Given the description of an element on the screen output the (x, y) to click on. 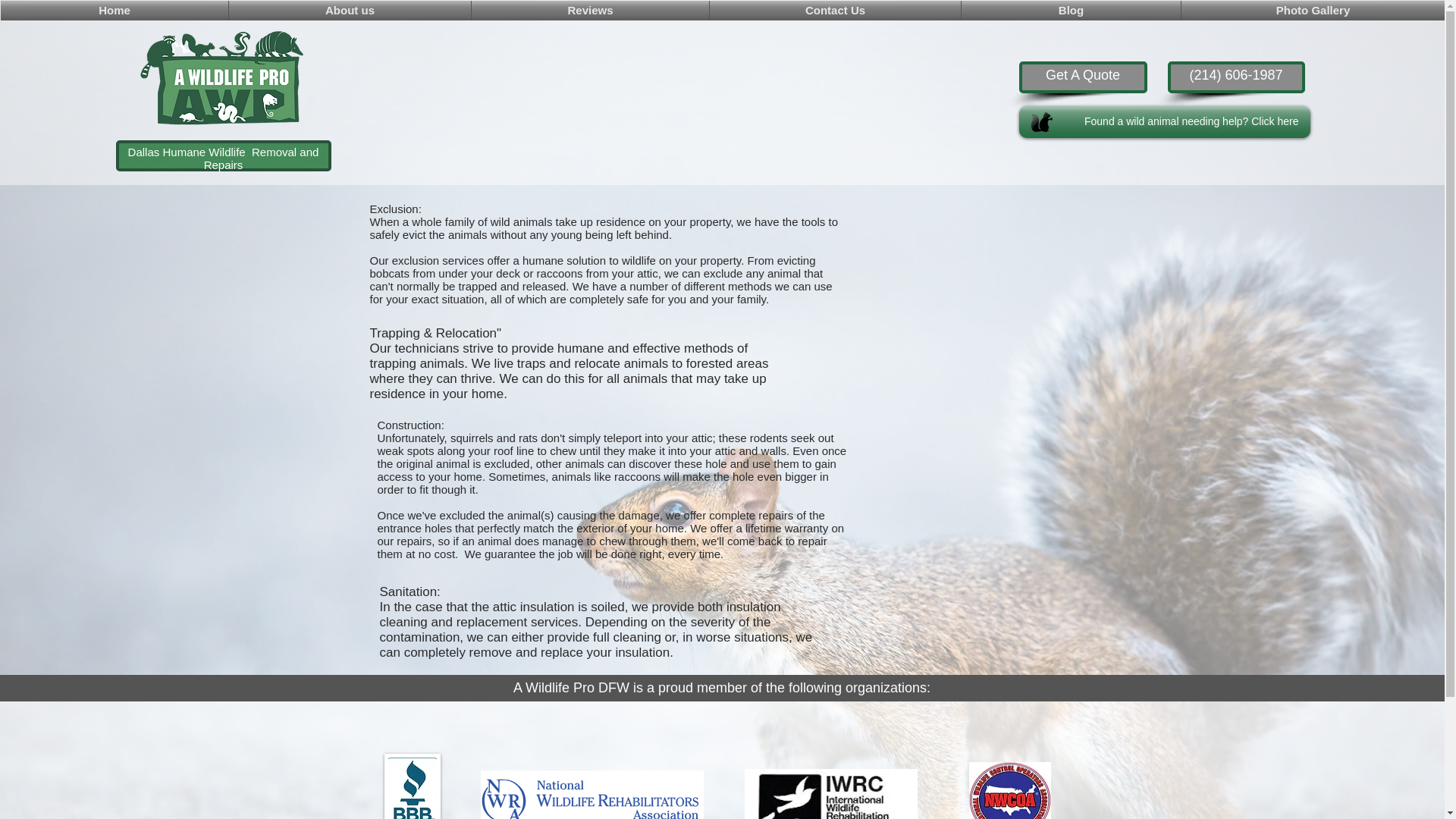
Blog (1070, 10)
Found a wild animal needing help? Click here (1164, 122)
Dallas Humane Wildlife  Removal and Repairs (223, 158)
Get A Quote (1083, 77)
Reviews (590, 10)
Contact Us (835, 10)
About us (349, 10)
iwrc.jpg (830, 794)
Home (114, 10)
